Given the description of an element on the screen output the (x, y) to click on. 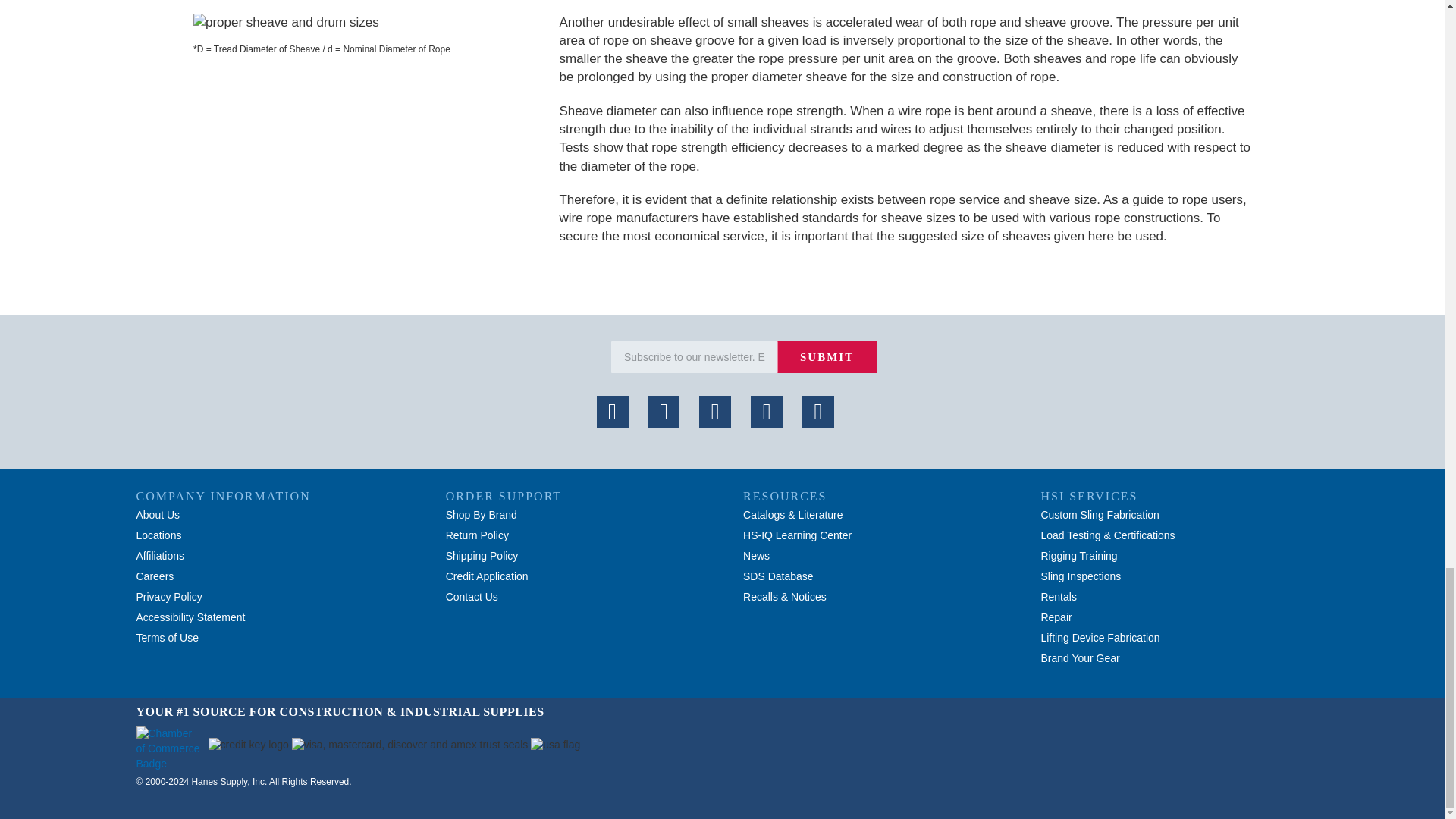
Payment Methods (410, 744)
USA Flag (555, 744)
Submit (826, 357)
Proper Sheave and Drum Sizes (365, 22)
Credit Key Logo (248, 744)
